Given the description of an element on the screen output the (x, y) to click on. 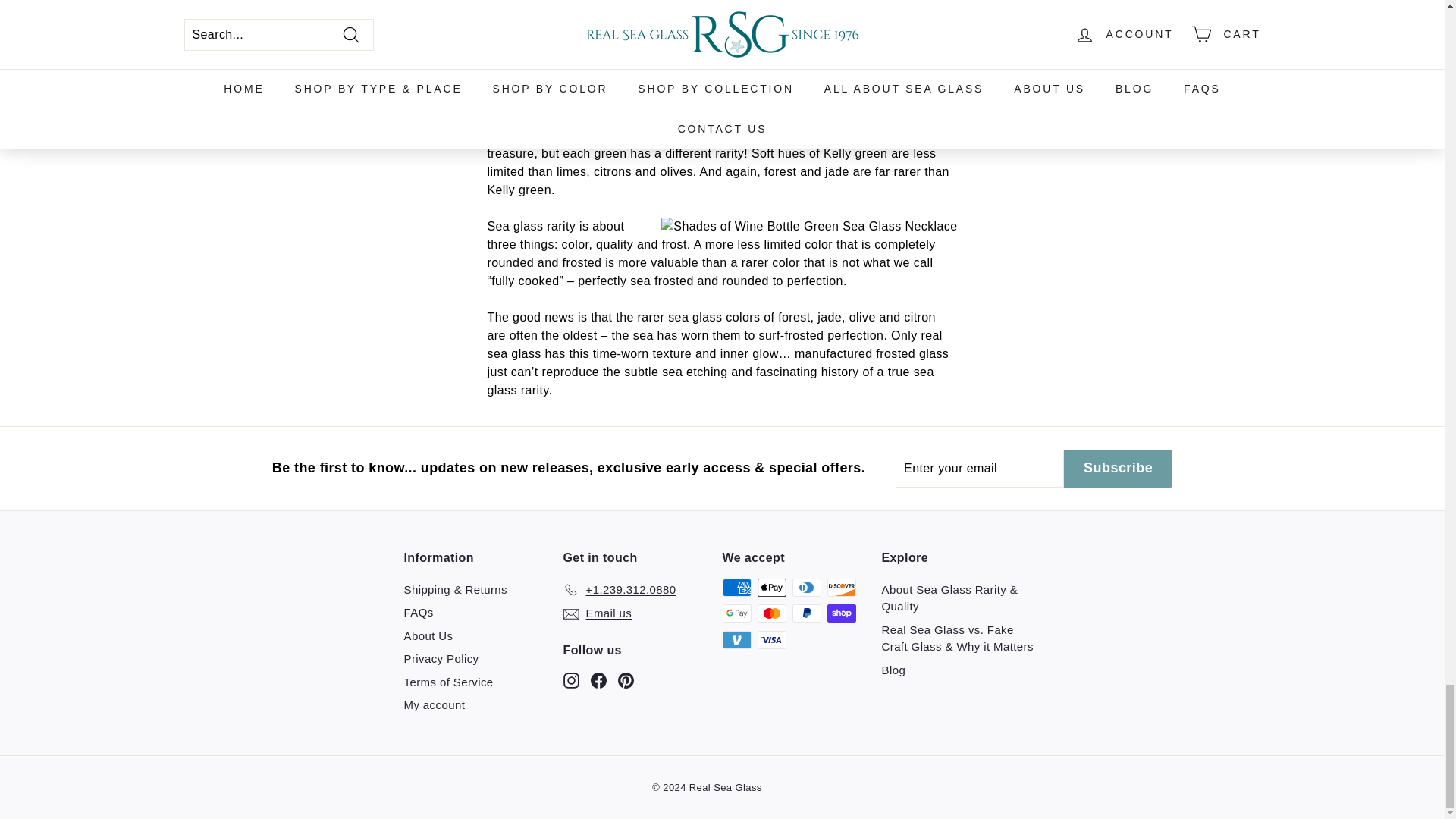
PayPal (806, 613)
Real Sea Glass on Facebook (597, 679)
American Express (736, 587)
Discover (841, 587)
Venmo (736, 639)
Diners Club (806, 587)
Mastercard (771, 613)
Shop Pay (841, 613)
Apple Pay (771, 587)
Visa (771, 639)
Real Sea Glass on Instagram (570, 679)
Google Pay (736, 613)
Real Sea Glass on Pinterest (625, 679)
